Given the description of an element on the screen output the (x, y) to click on. 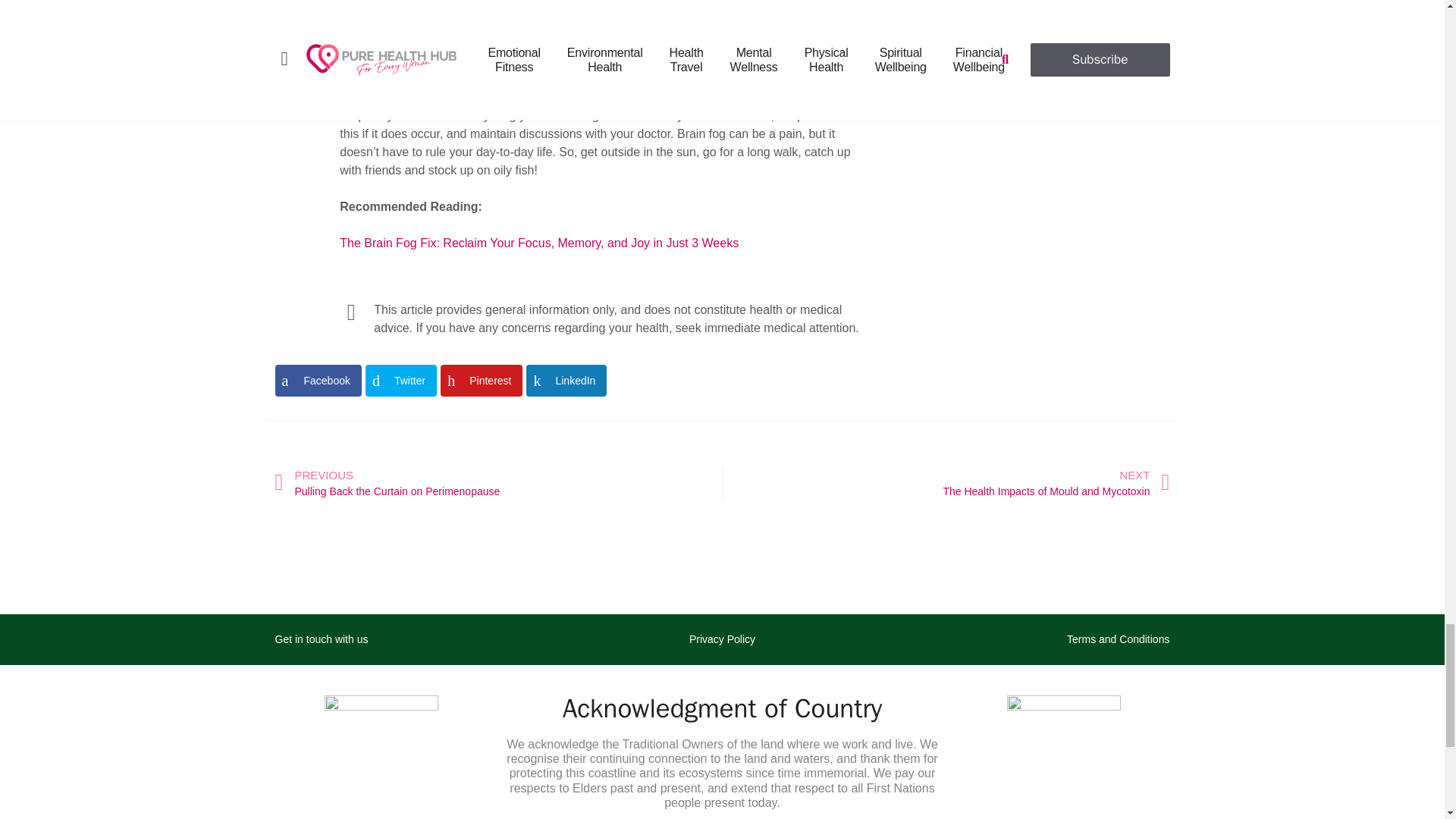
Share on Pinterest (481, 380)
Share on LinkedIn (566, 380)
Share on Facebook (318, 380)
Share on Twitter (400, 380)
